Given the description of an element on the screen output the (x, y) to click on. 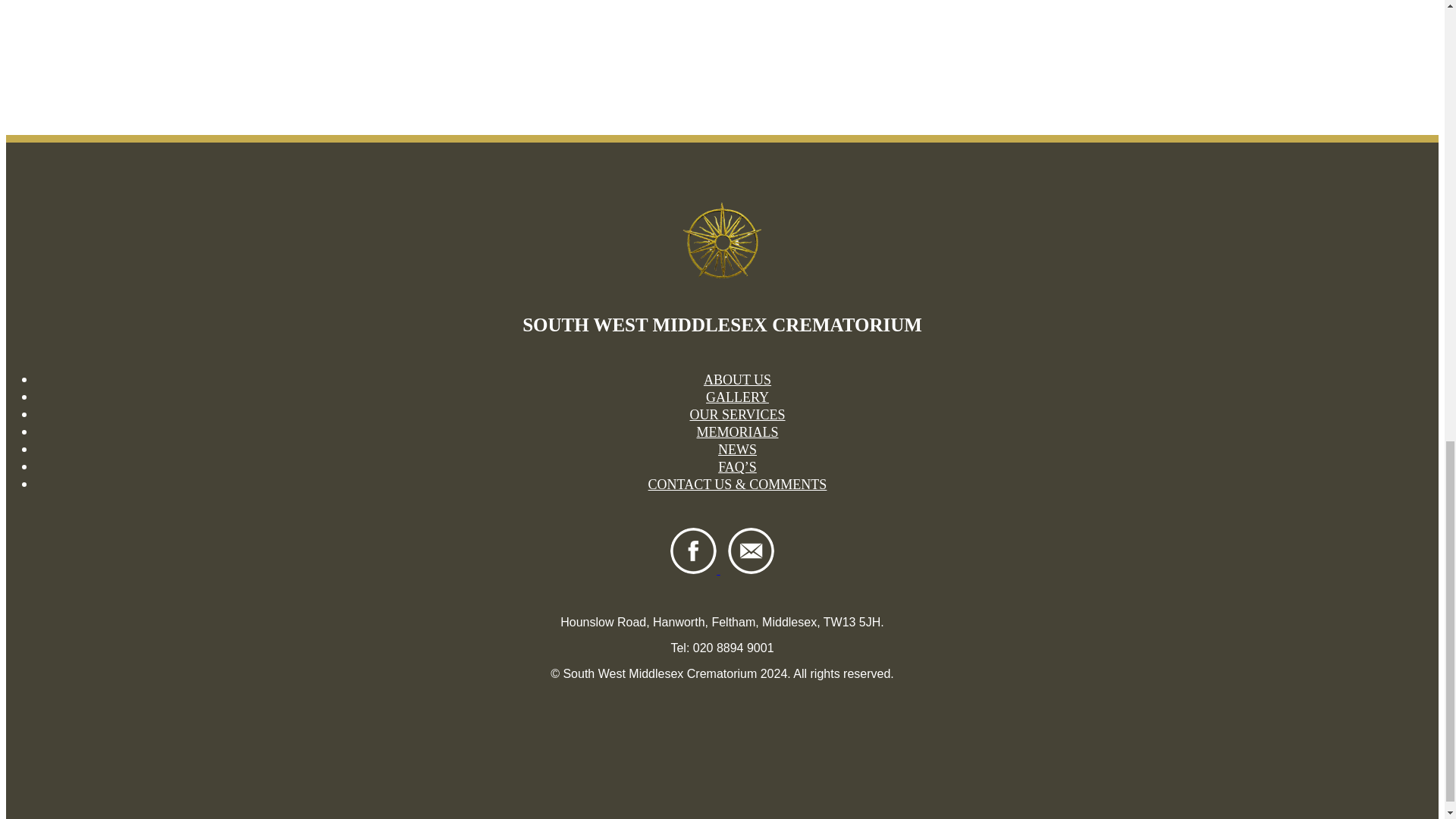
GALLERY (737, 396)
OUR SERVICES (736, 414)
MEMORIALS (736, 432)
ABOUT US (737, 379)
